Given the description of an element on the screen output the (x, y) to click on. 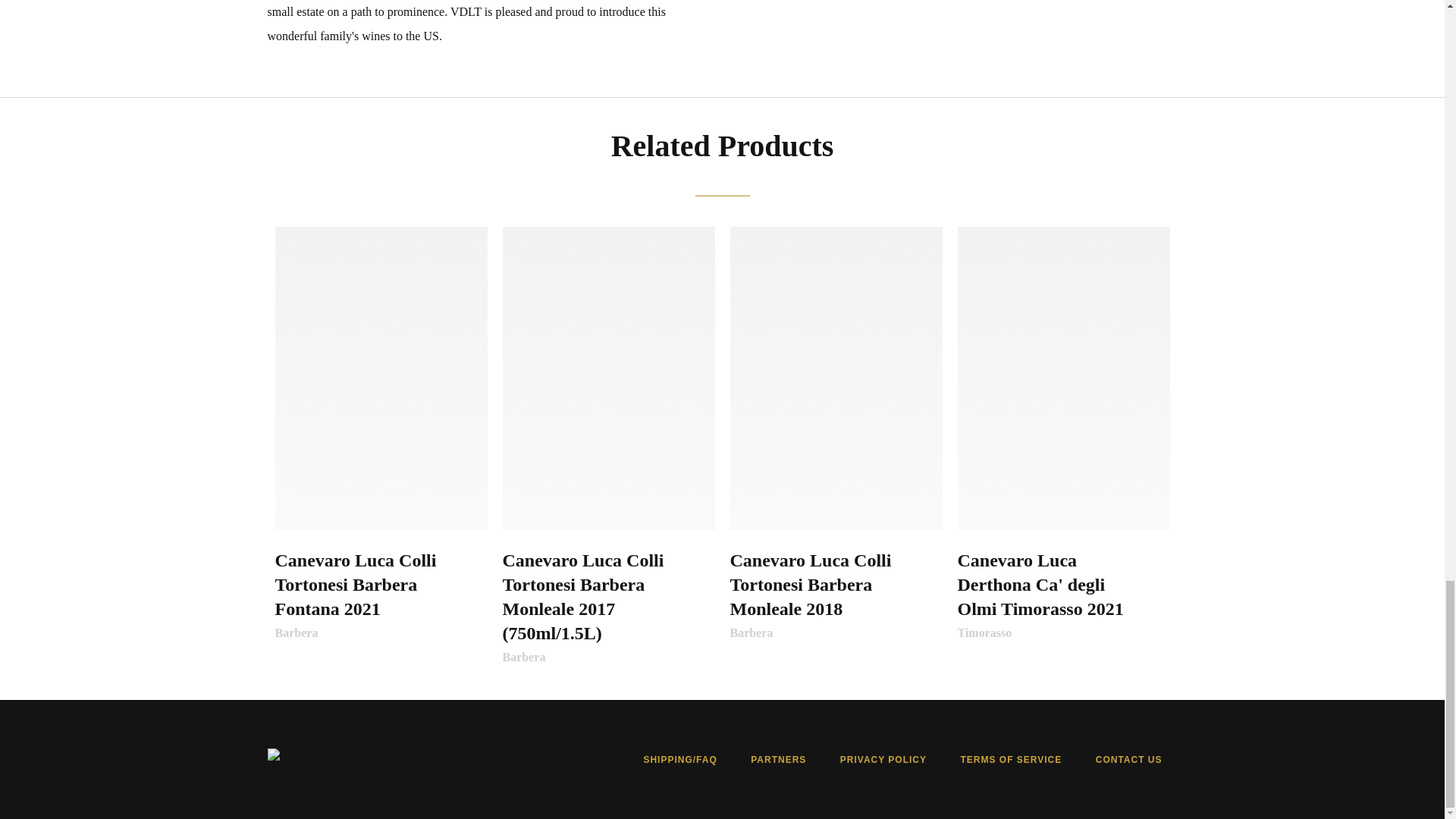
Canevaro Luca Colli Tortonesi Barbera Monleale 2018 (835, 378)
Canevaro Luca Derthona Ca' degli Olmi Timorasso 2021 (1062, 378)
Canevaro Luca Colli Tortonesi Barbera Fontana 2021 (380, 378)
VDLT (365, 758)
